Given the description of an element on the screen output the (x, y) to click on. 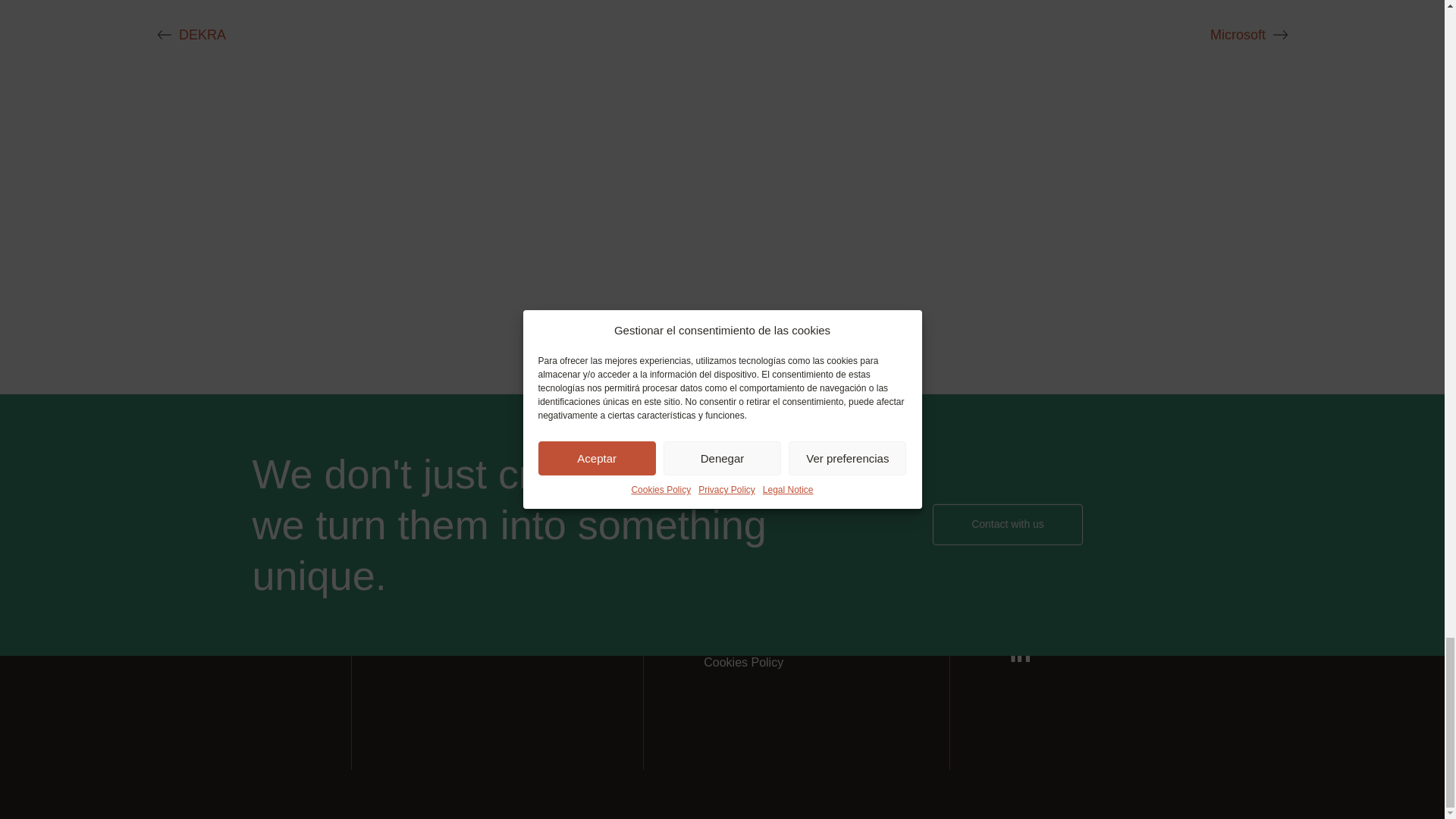
Corporate interior design (478, 589)
Stands (430, 517)
Contact with us (1008, 524)
ES Group (166, 502)
ES Group (166, 527)
Graphics and signage (470, 553)
DEKRA (202, 34)
About (719, 517)
Linkedin (1019, 651)
Microsoft (1237, 34)
